Given the description of an element on the screen output the (x, y) to click on. 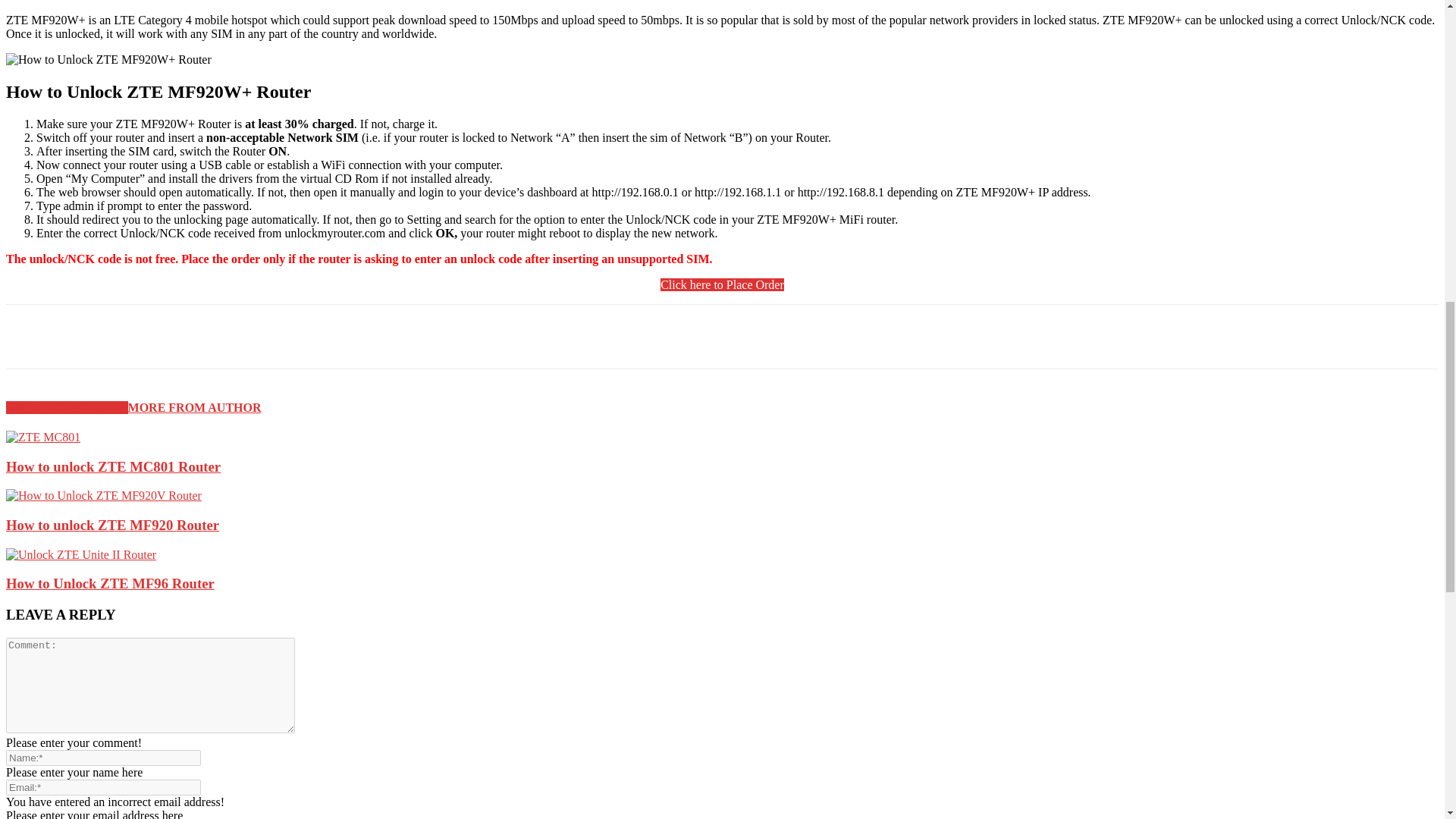
How to unlock ZTE MC801 Router (42, 436)
